Given the description of an element on the screen output the (x, y) to click on. 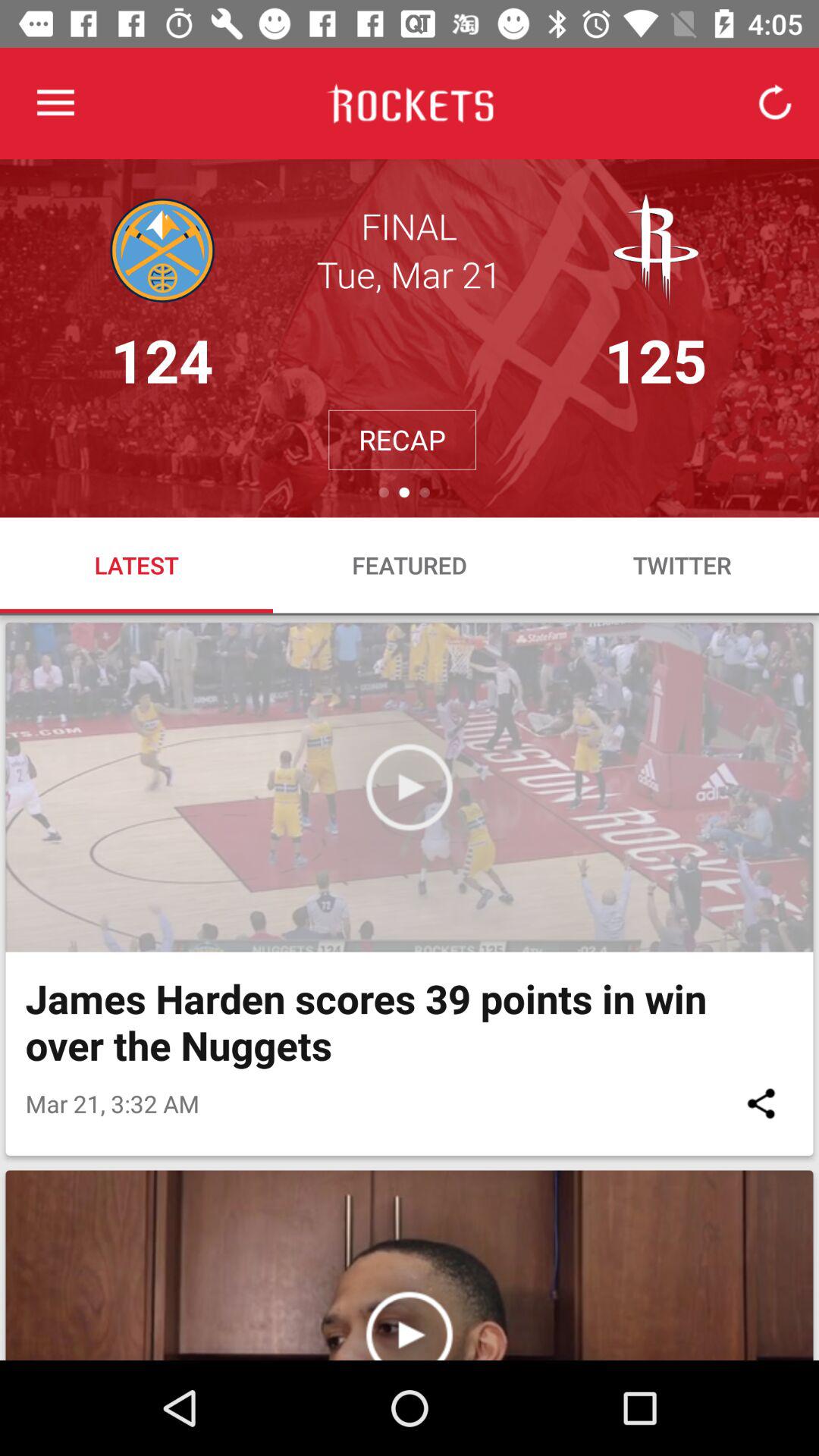
click item to the right of mar 21 3 (761, 1103)
